Given the description of an element on the screen output the (x, y) to click on. 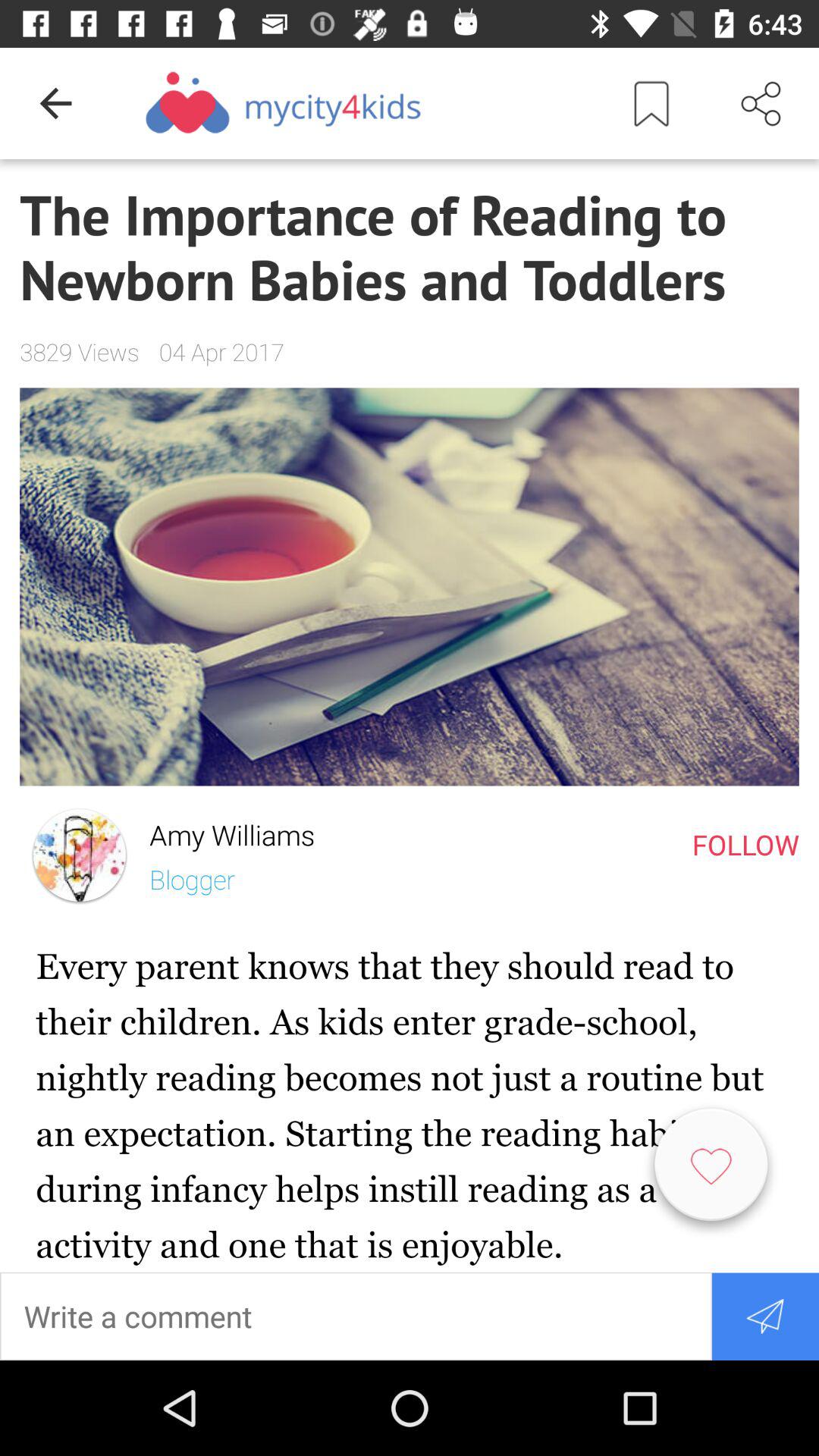
select the item to the left of follow (222, 831)
